Given the description of an element on the screen output the (x, y) to click on. 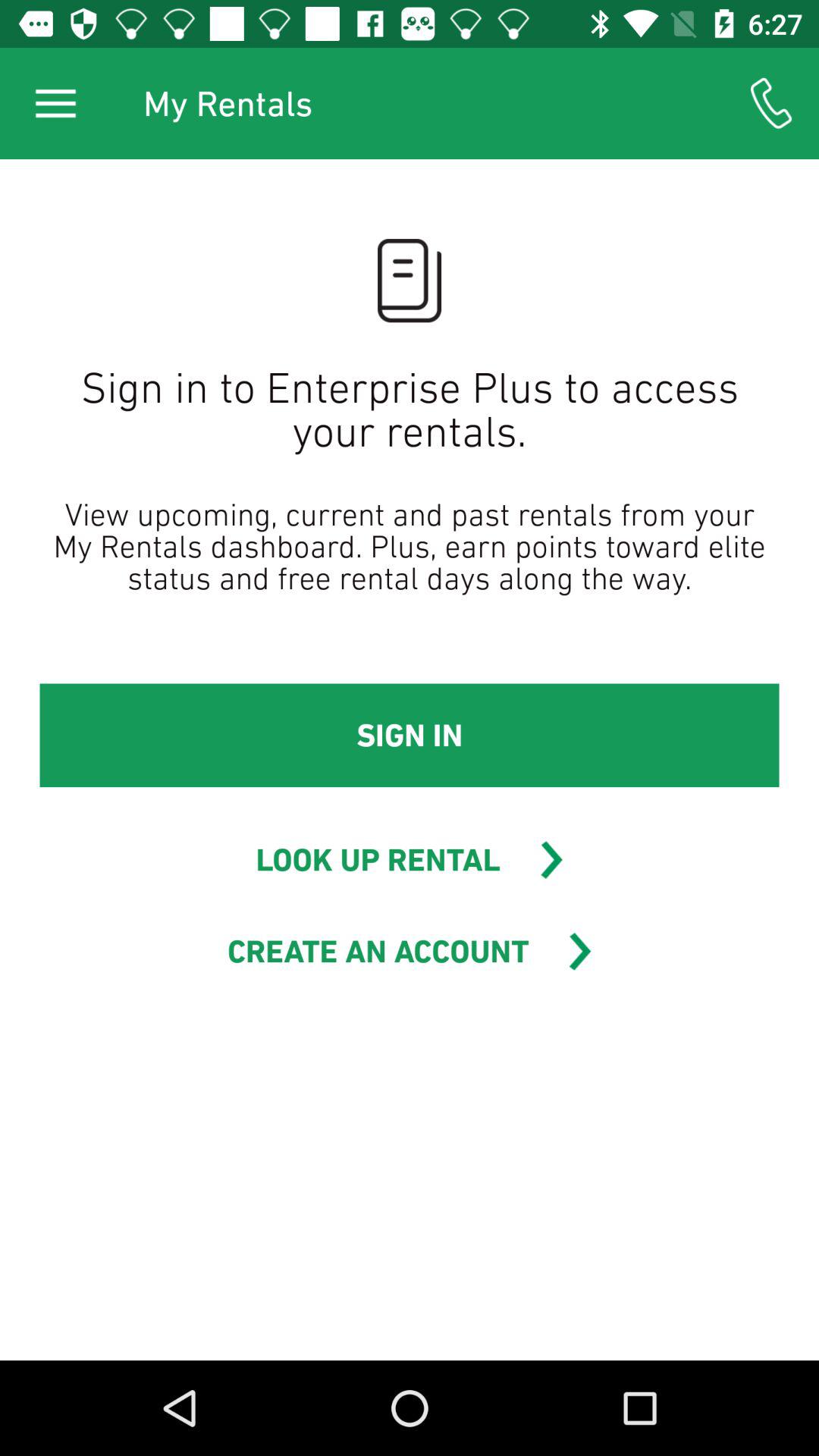
tap item at the top right corner (771, 103)
